Given the description of an element on the screen output the (x, y) to click on. 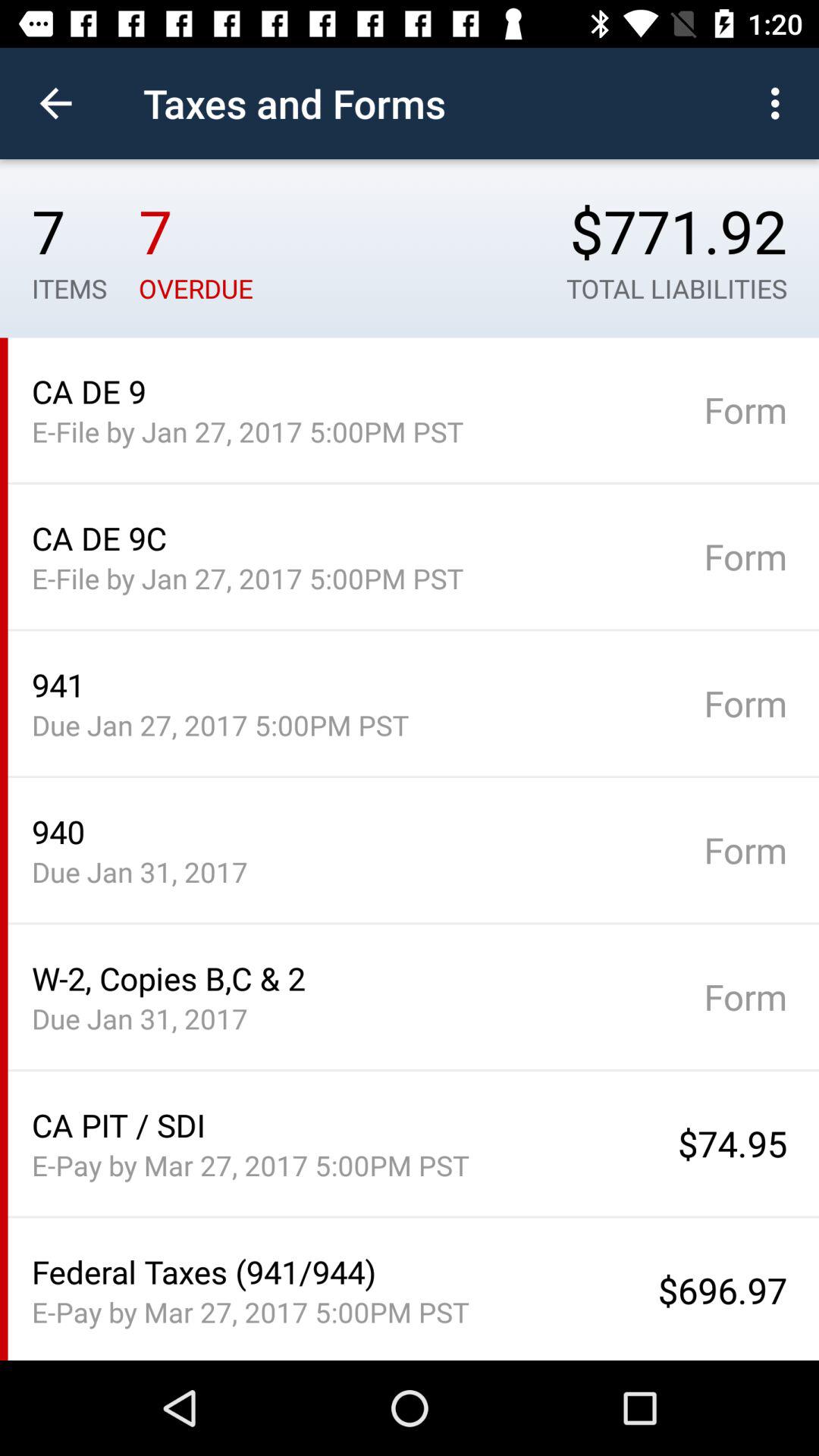
click on the three vertical dots on the top right corner of the web page (779, 103)
